Given the description of an element on the screen output the (x, y) to click on. 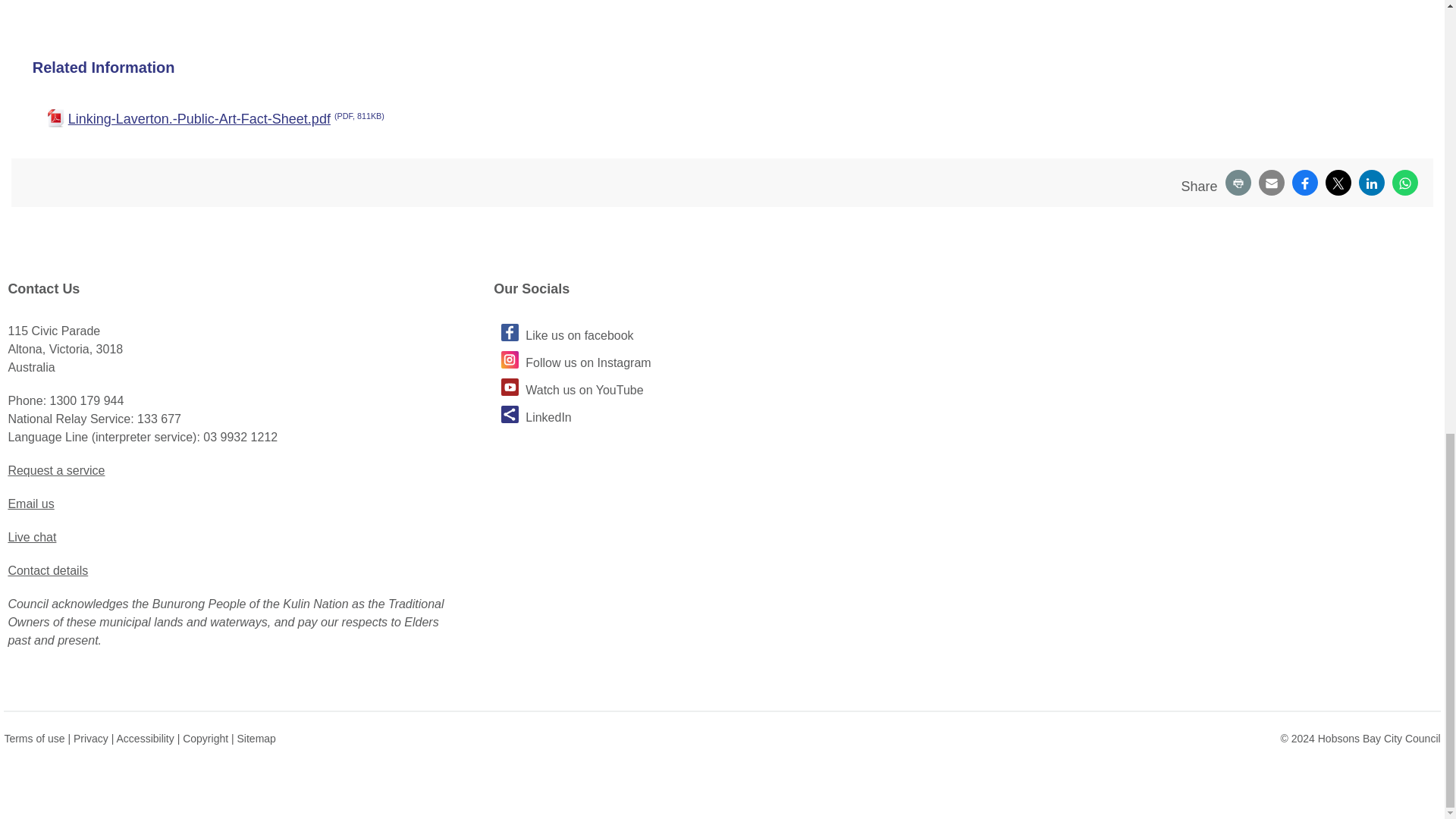
Linking-Laverton.-Public-Art-Fact-Sheet.pdf (491, 118)
